Given the description of an element on the screen output the (x, y) to click on. 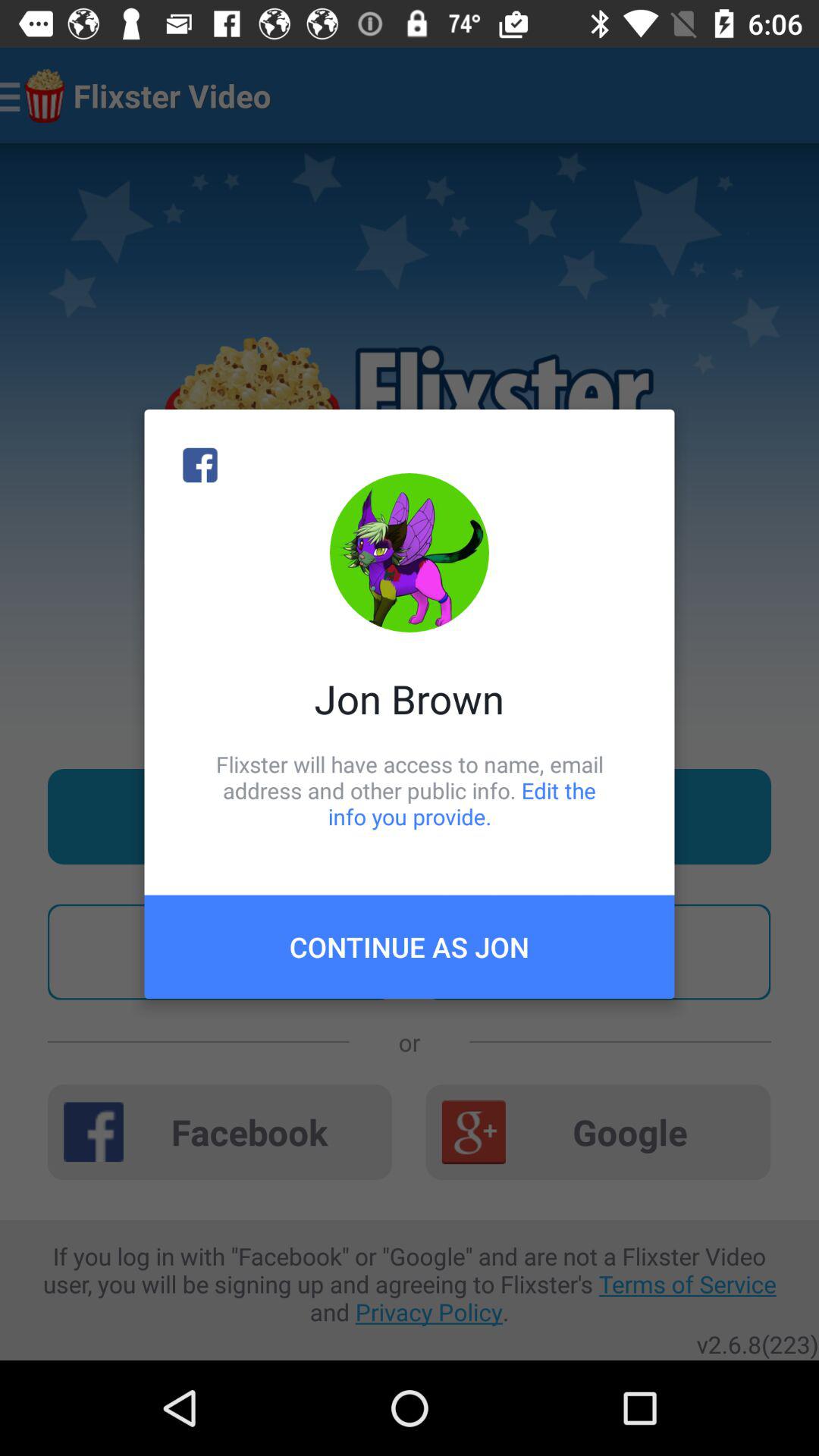
press icon below jon brown (409, 790)
